Given the description of an element on the screen output the (x, y) to click on. 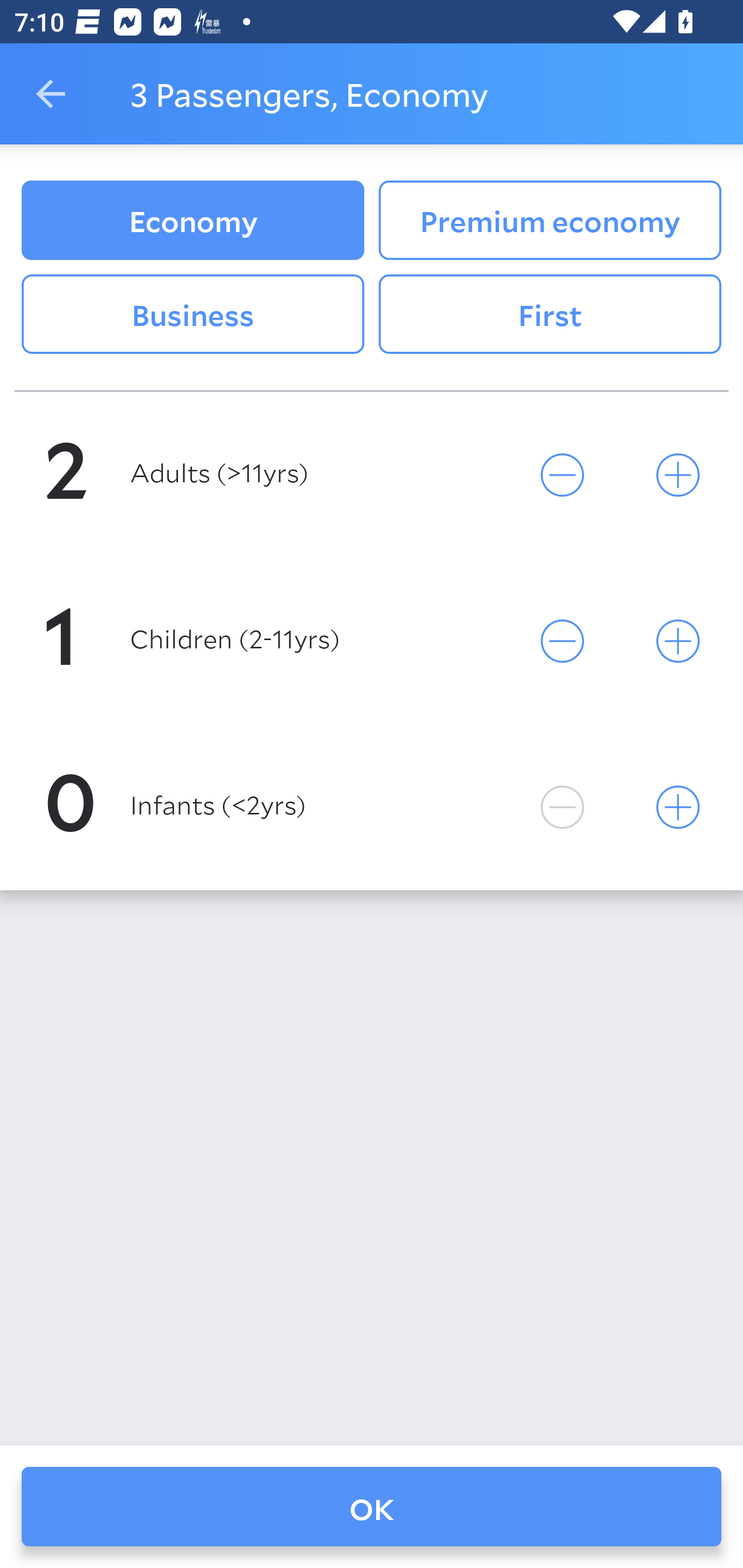
Navigate up (50, 93)
Economy (192, 220)
Premium economy (549, 220)
Business (192, 314)
First (549, 314)
OK (371, 1506)
